Given the description of an element on the screen output the (x, y) to click on. 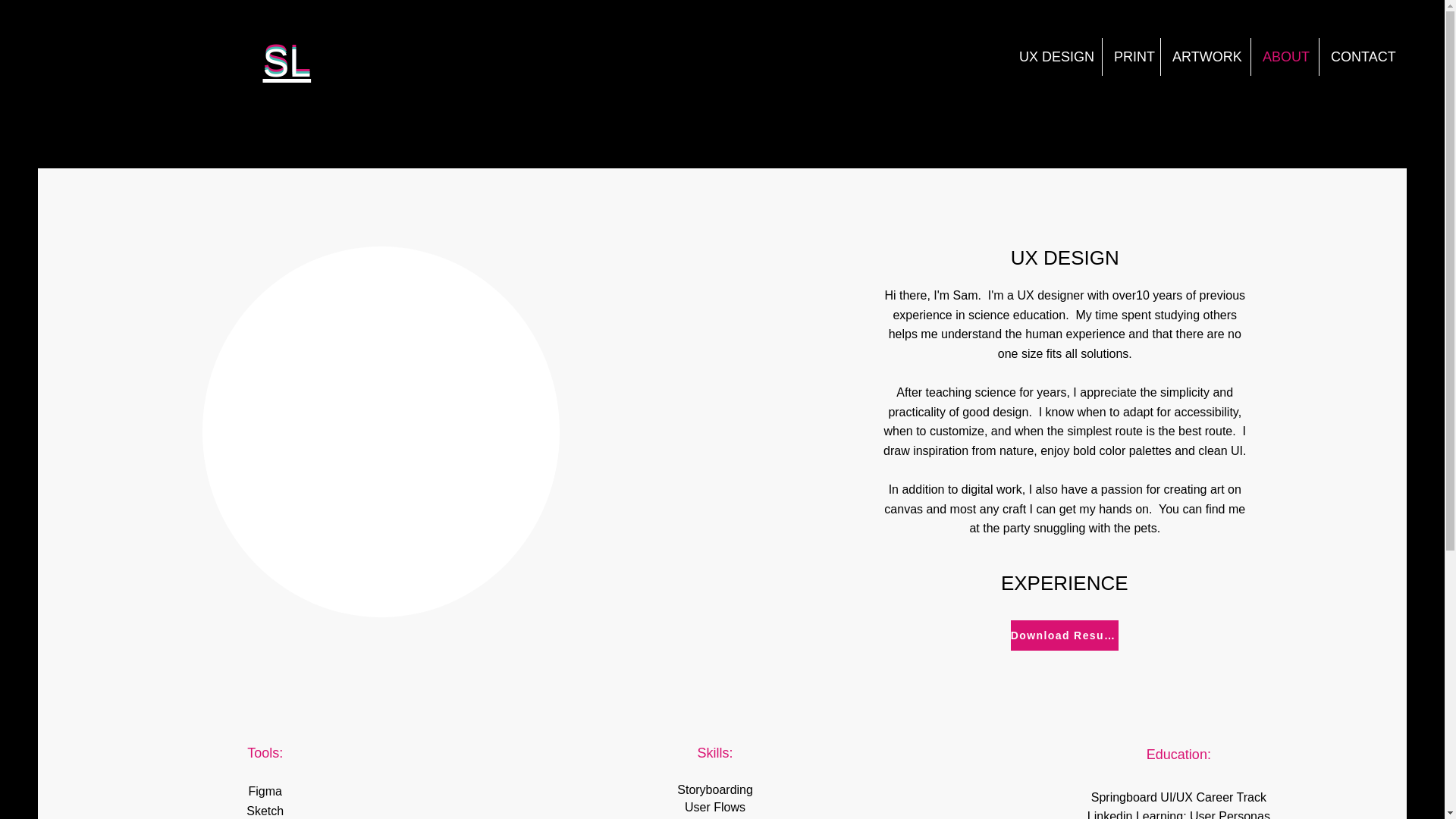
ABOUT (1284, 56)
SL (286, 62)
ARTWORK (1205, 56)
Download Resume (1064, 634)
CONTACT (1362, 56)
UX DESIGN (1054, 56)
PRINT (1131, 56)
